Given the description of an element on the screen output the (x, y) to click on. 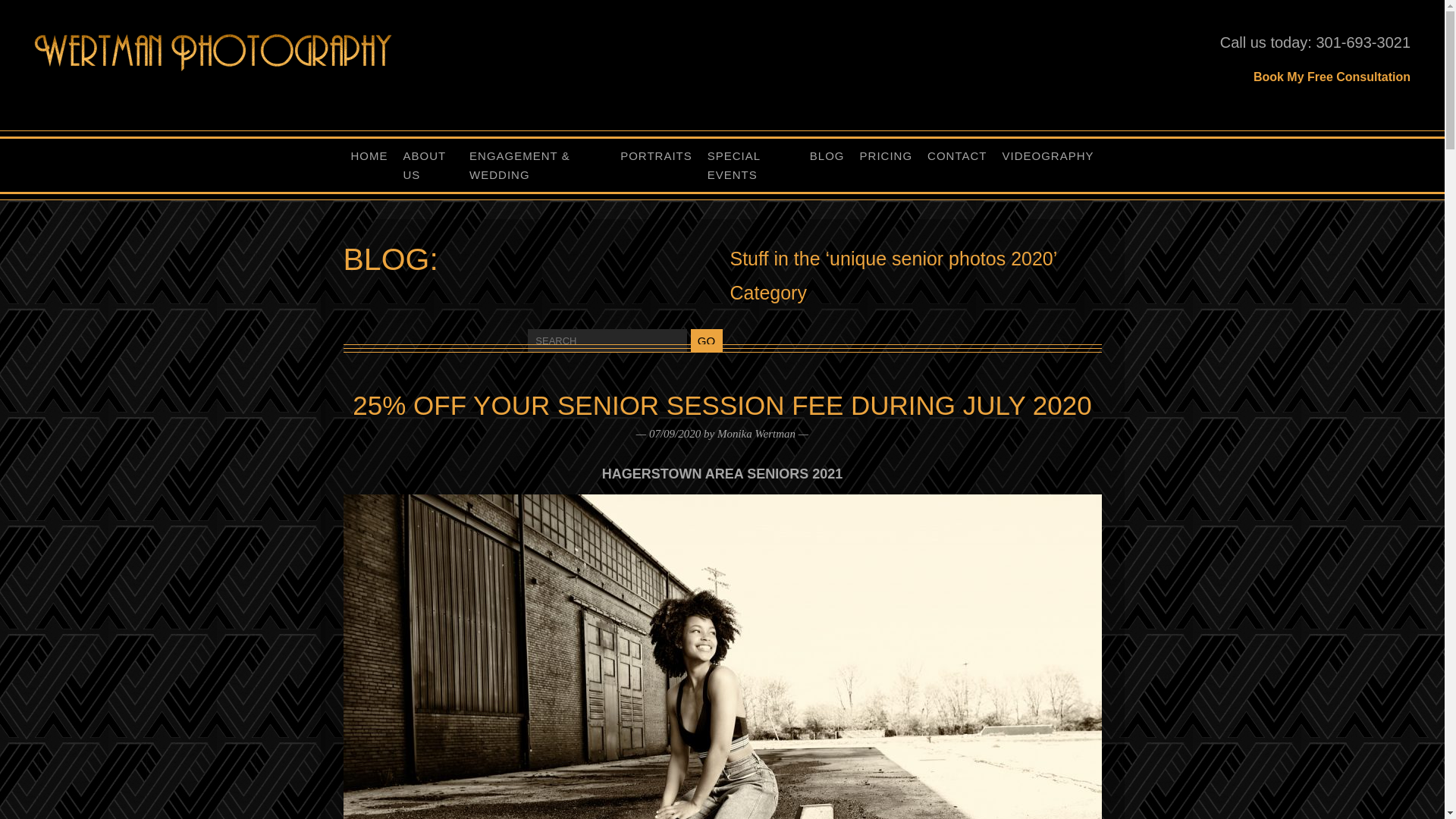
VIDEOGRAPHY (1047, 155)
GO (706, 340)
GO (706, 340)
PORTRAITS (656, 155)
PRICING (885, 155)
SPECIAL EVENTS (751, 164)
ABOUT US (429, 164)
GO (706, 340)
Book My Free Consultation (1331, 76)
HOME (368, 155)
CONTACT (957, 155)
BLOG (826, 155)
